Given the description of an element on the screen output the (x, y) to click on. 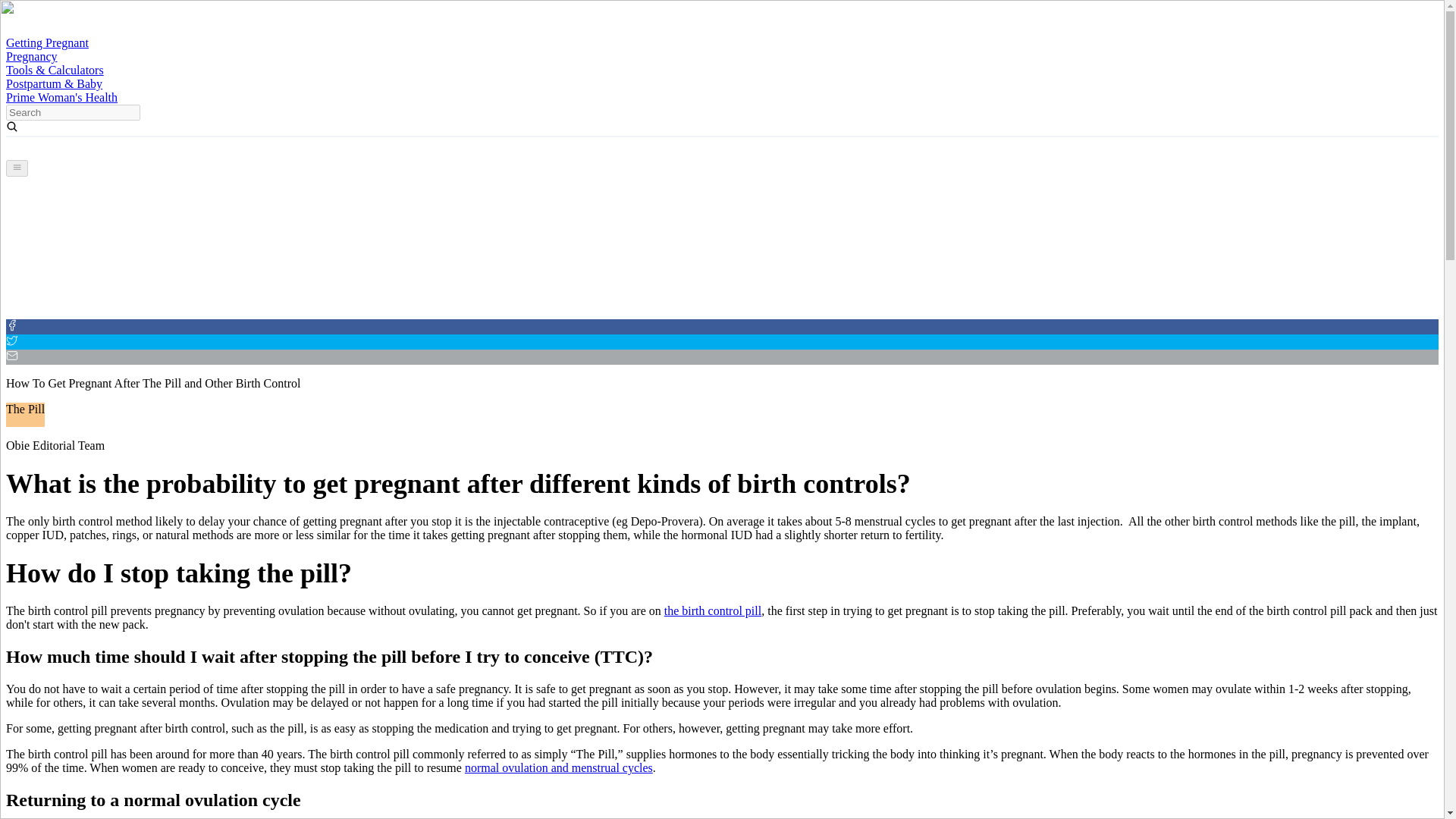
birth control pill (712, 610)
normal ovulation and menstrual cycles (558, 767)
Prime Woman's Health (61, 97)
the birth control pill (712, 610)
Pregnancy (31, 56)
Getting Pregnant (46, 42)
